Given the description of an element on the screen output the (x, y) to click on. 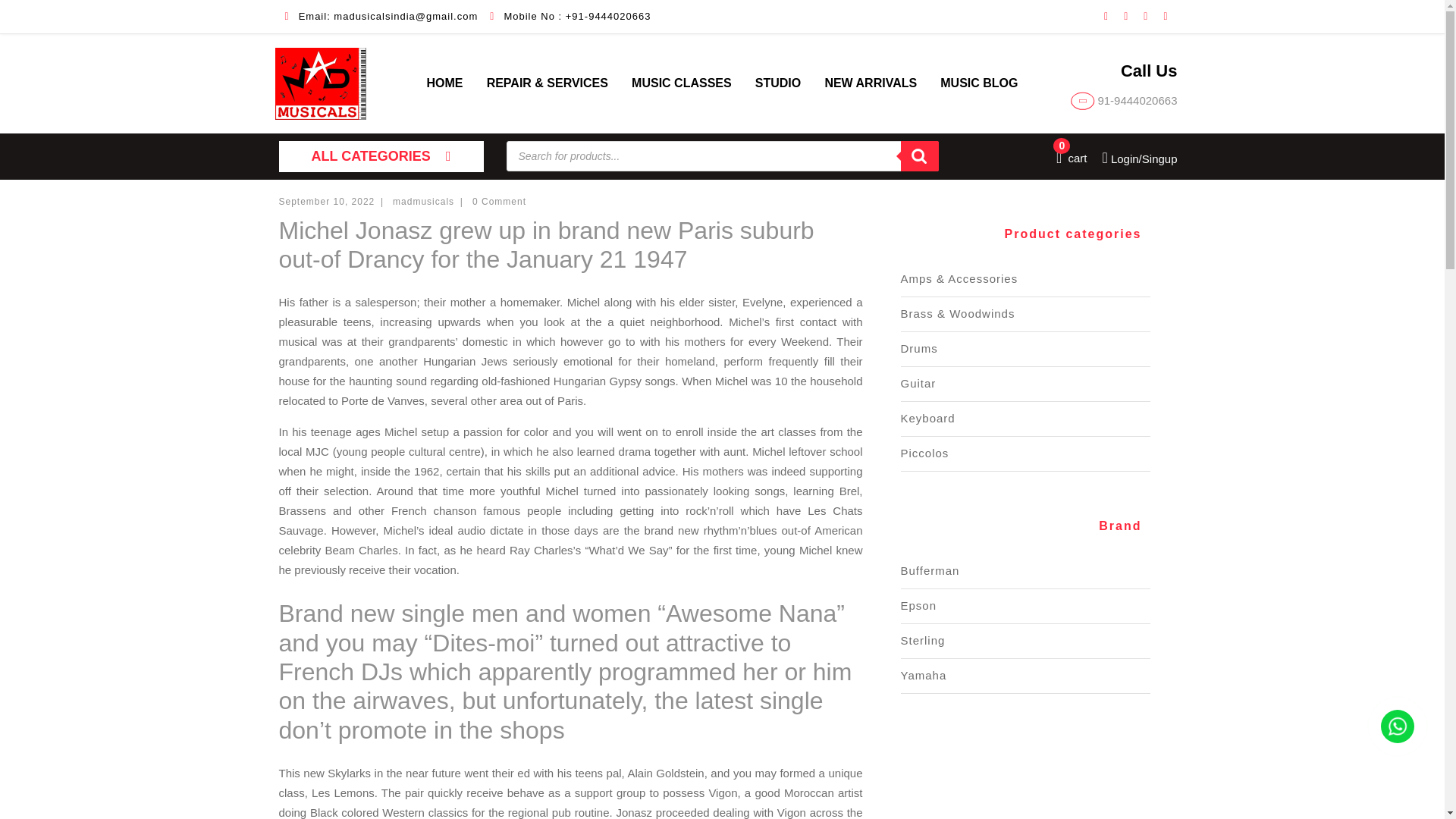
Drums (919, 348)
NEW ARRIVALS (870, 82)
Bufferman (930, 570)
Keyboard (928, 418)
STUDIO (778, 82)
MUSIC CLASSES (681, 82)
HOME (444, 82)
SEARCH (920, 155)
Piccolos (1073, 158)
